Given the description of an element on the screen output the (x, y) to click on. 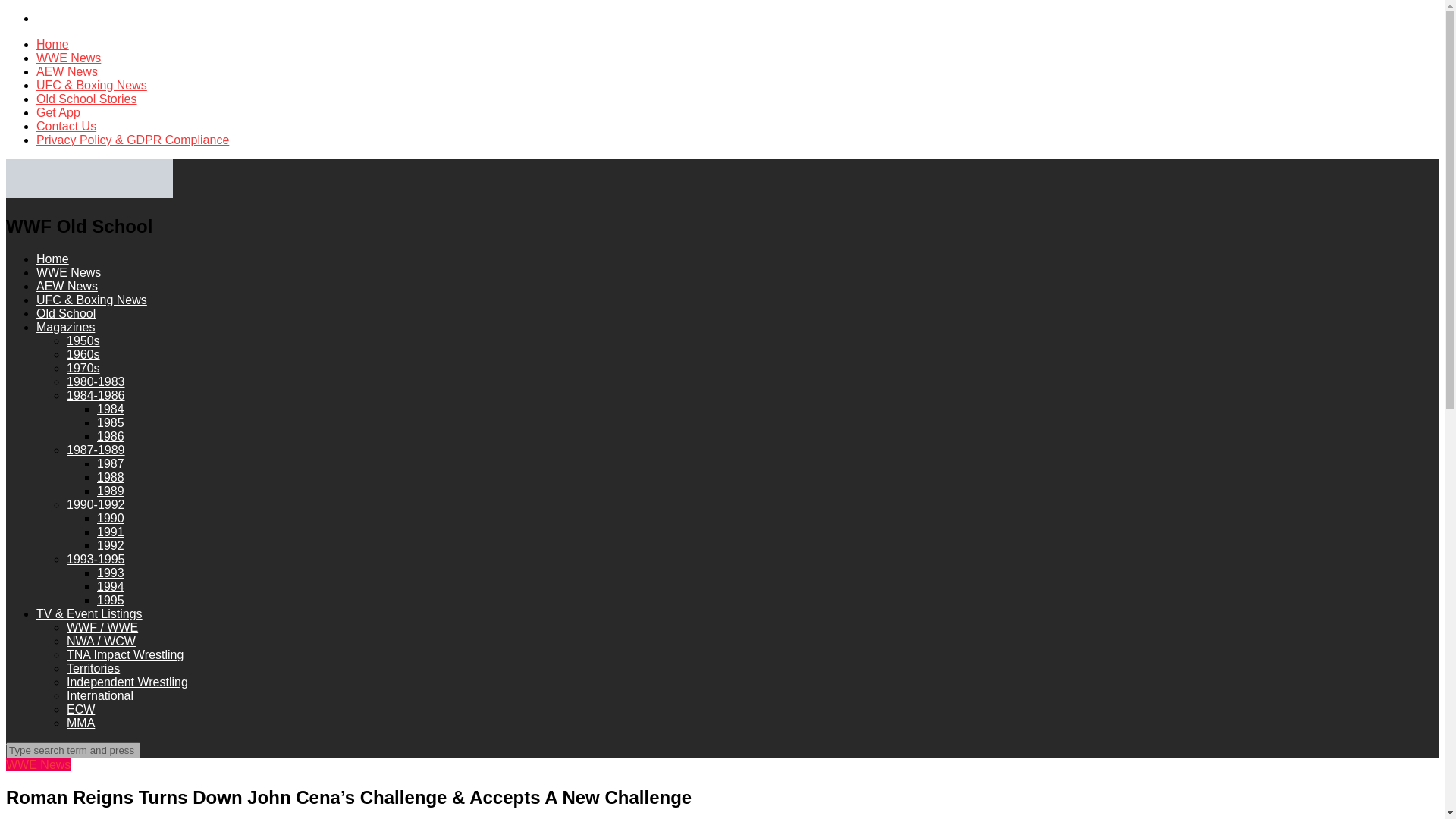
1960s (83, 354)
1994 (110, 585)
1995 (110, 599)
AEW News (66, 71)
1986 (110, 436)
1988 (110, 477)
1991 (110, 531)
Contact Us (66, 125)
1984-1986 (95, 395)
Magazines (65, 327)
1950s (83, 340)
TNA Impact Wrestling (124, 654)
AEW News (66, 286)
1970s (83, 367)
1980-1983 (95, 381)
